Given the description of an element on the screen output the (x, y) to click on. 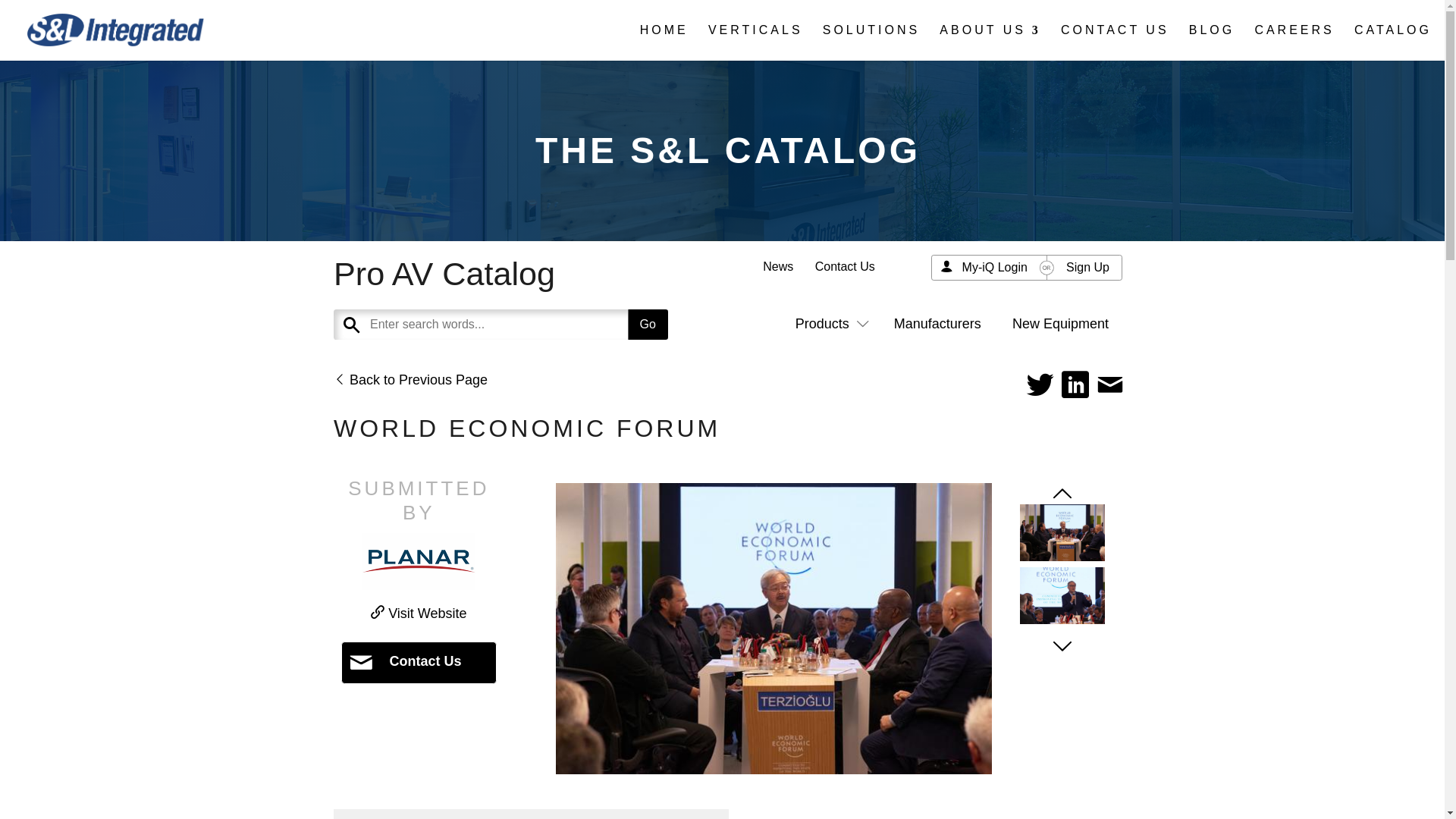
CONTACT US (1115, 42)
CAREERS (1293, 42)
CATALOG (1392, 42)
VERTICALS (755, 42)
BLOG (1211, 42)
HOME (664, 42)
Go (647, 324)
Enter search words... (536, 324)
ABOUT US (990, 42)
Go (647, 324)
SOLUTIONS (871, 42)
